Given the description of an element on the screen output the (x, y) to click on. 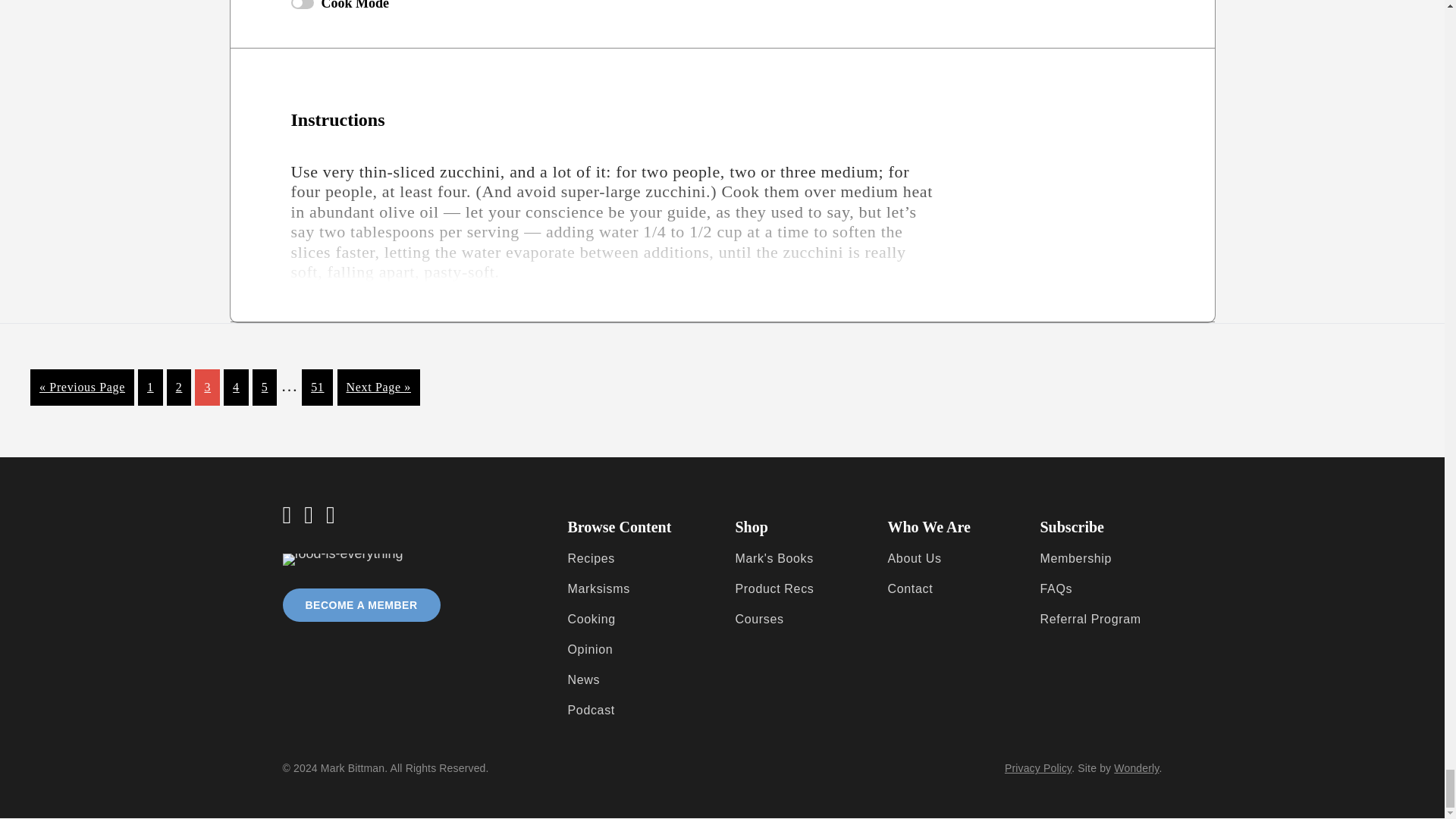
food-is-everything (342, 559)
